Given the description of an element on the screen output the (x, y) to click on. 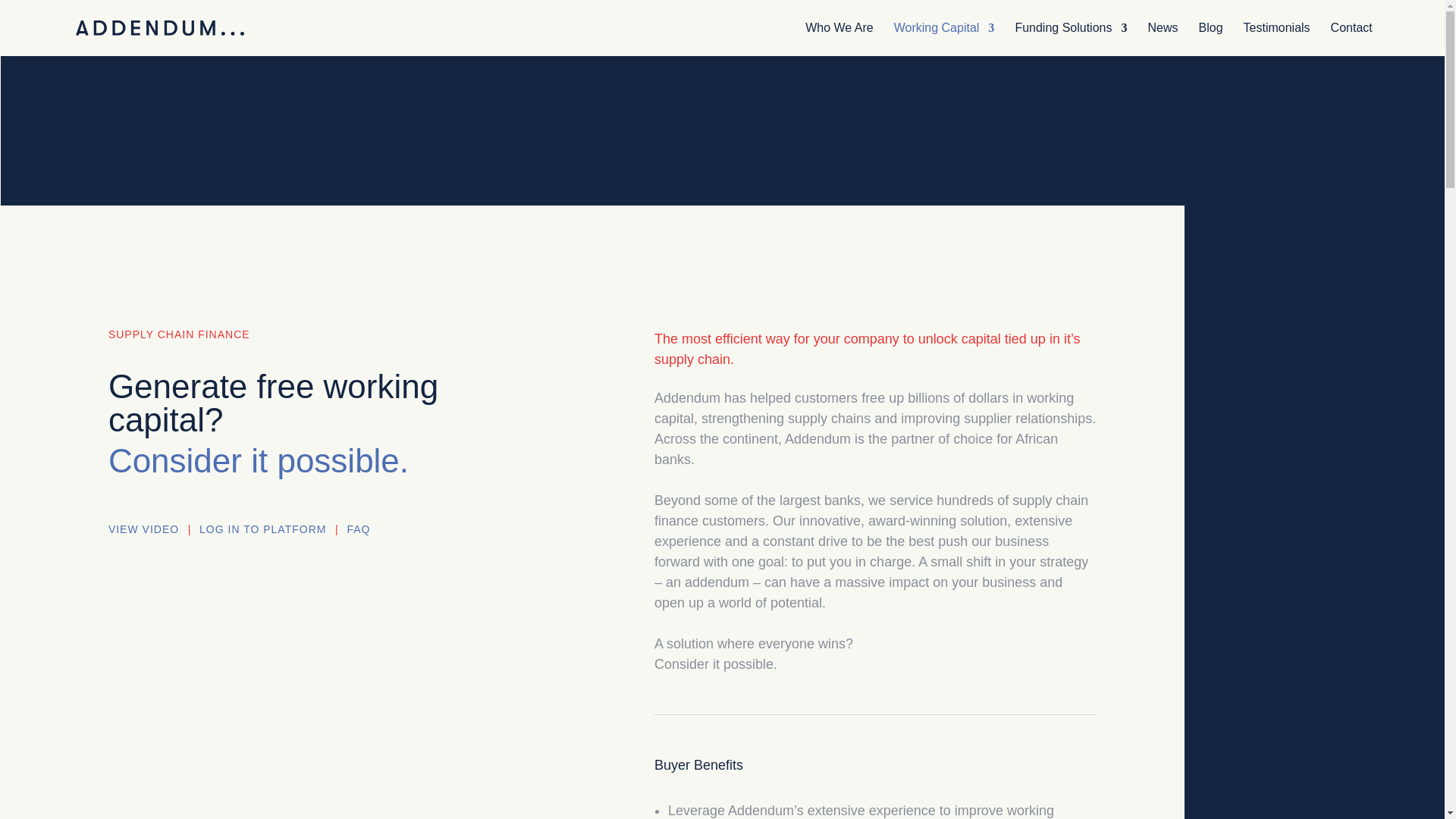
News (1162, 39)
Who We Are (839, 39)
Funding Solutions (1070, 39)
Testimonials (1276, 39)
Blog (1210, 39)
Working Capital (943, 39)
Contact (1351, 39)
